Given the description of an element on the screen output the (x, y) to click on. 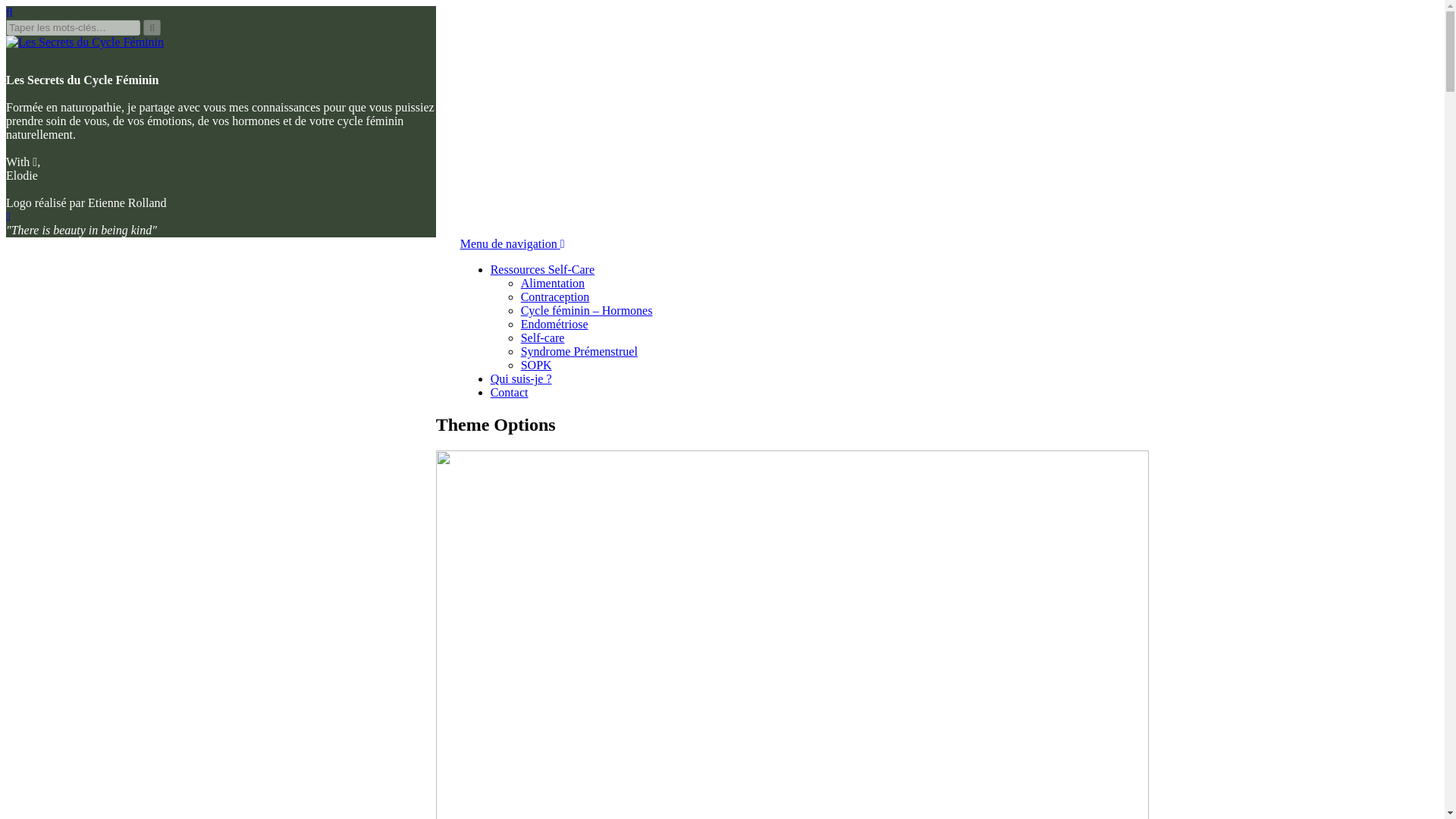
Qui suis-je ? (520, 378)
Self-care (542, 337)
Contraception (555, 296)
Search for: (72, 27)
Ressources Self-Care (542, 269)
Contact (509, 391)
Menu de navigation (512, 243)
Alimentation (553, 282)
SOPK (536, 364)
Menu de navigation (512, 243)
